Given the description of an element on the screen output the (x, y) to click on. 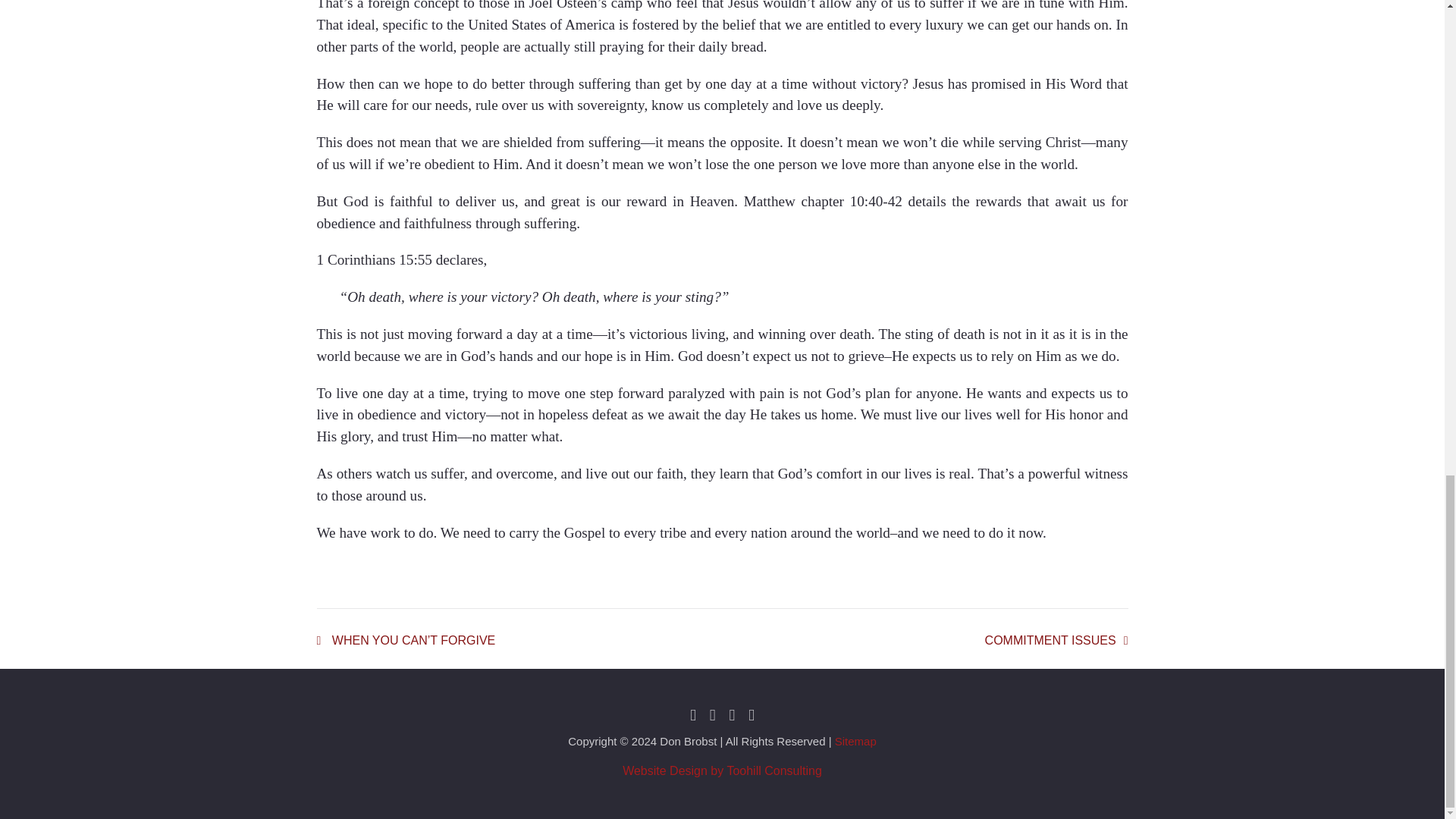
Sitemap (855, 740)
Website Design by Toohill Consulting (1056, 640)
